Given the description of an element on the screen output the (x, y) to click on. 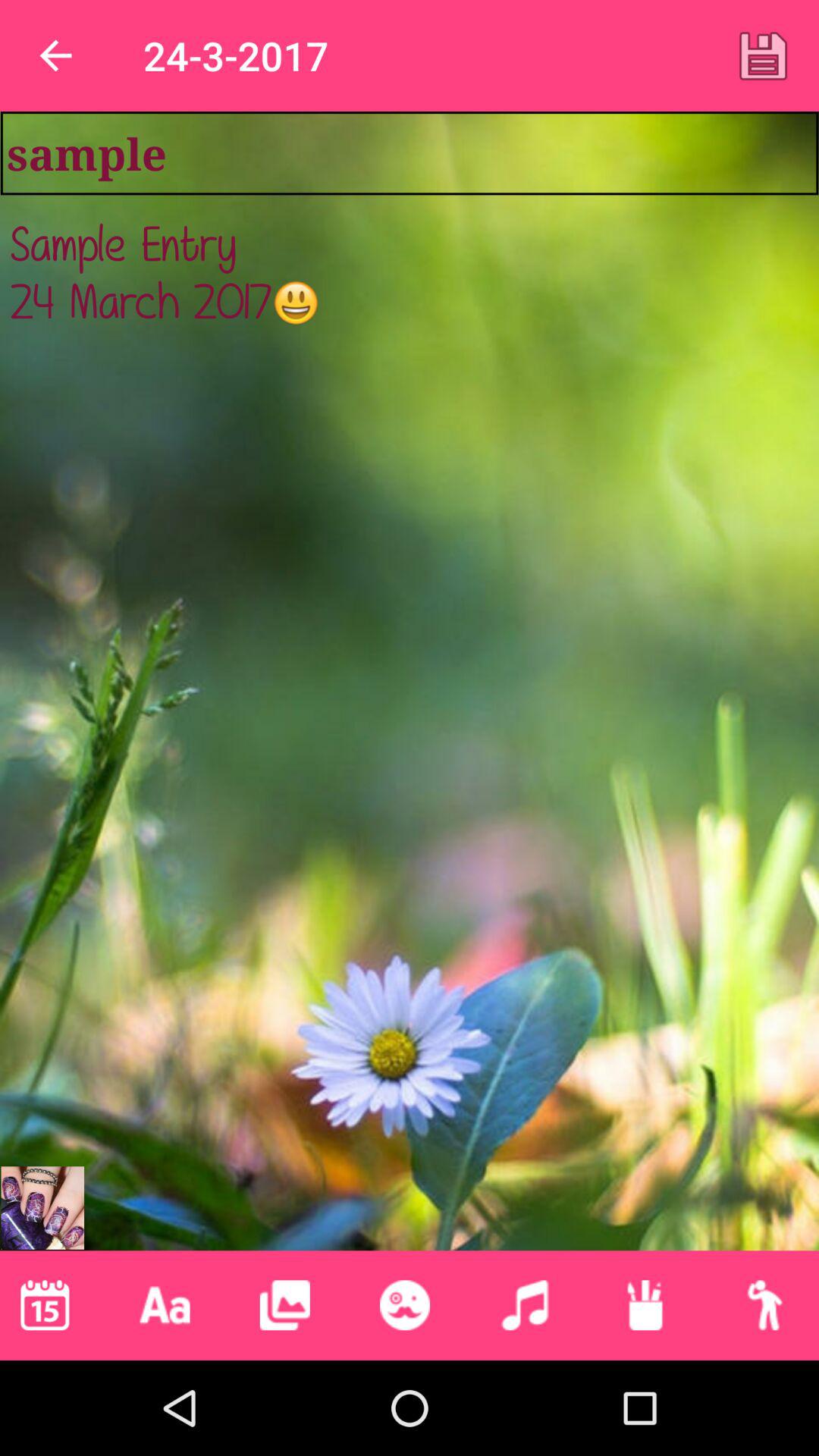
lettering capital (164, 1305)
